Given the description of an element on the screen output the (x, y) to click on. 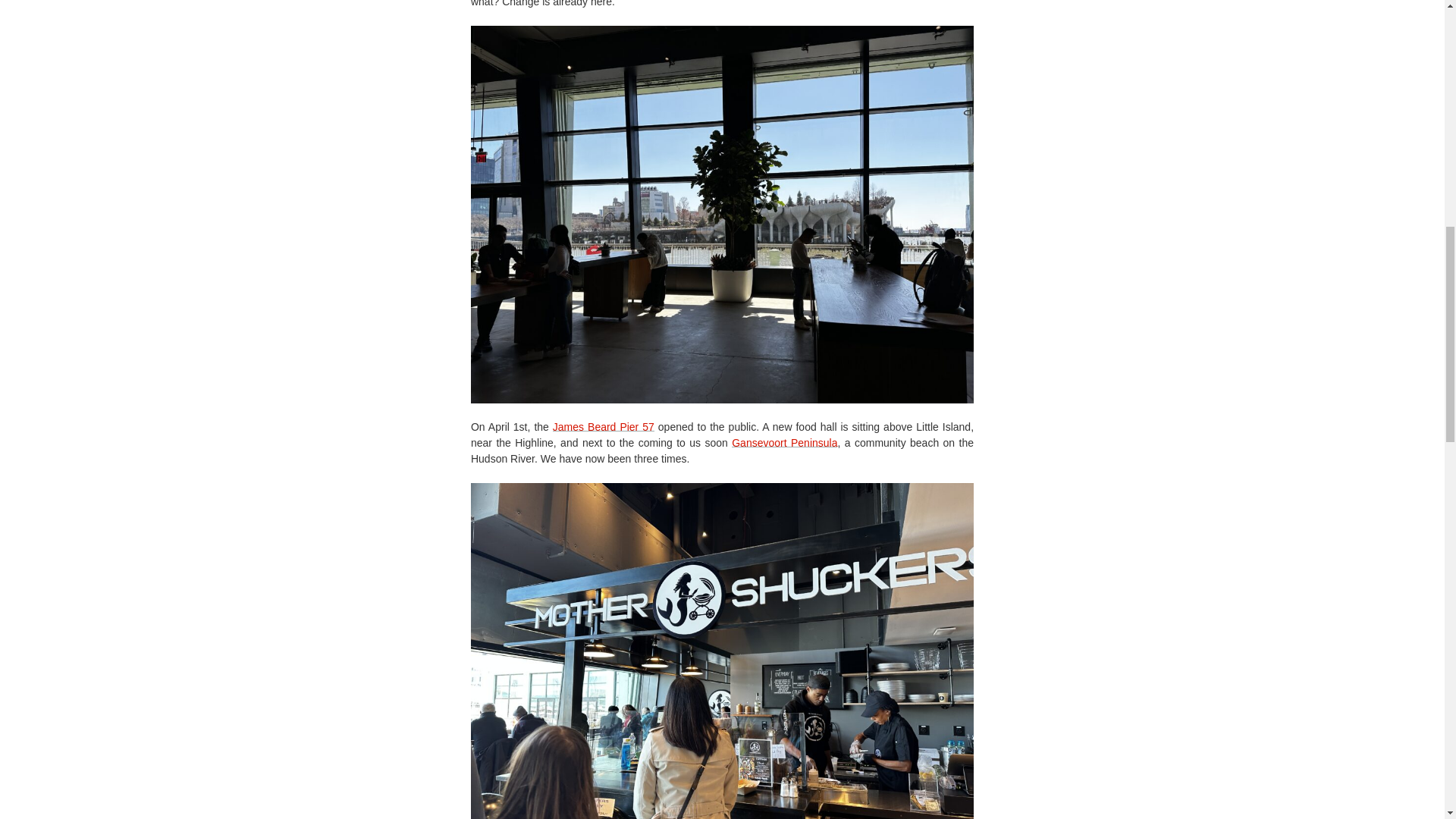
Gansevoort Peninsula (784, 442)
James Beard Pier 57 (603, 426)
